Given the description of an element on the screen output the (x, y) to click on. 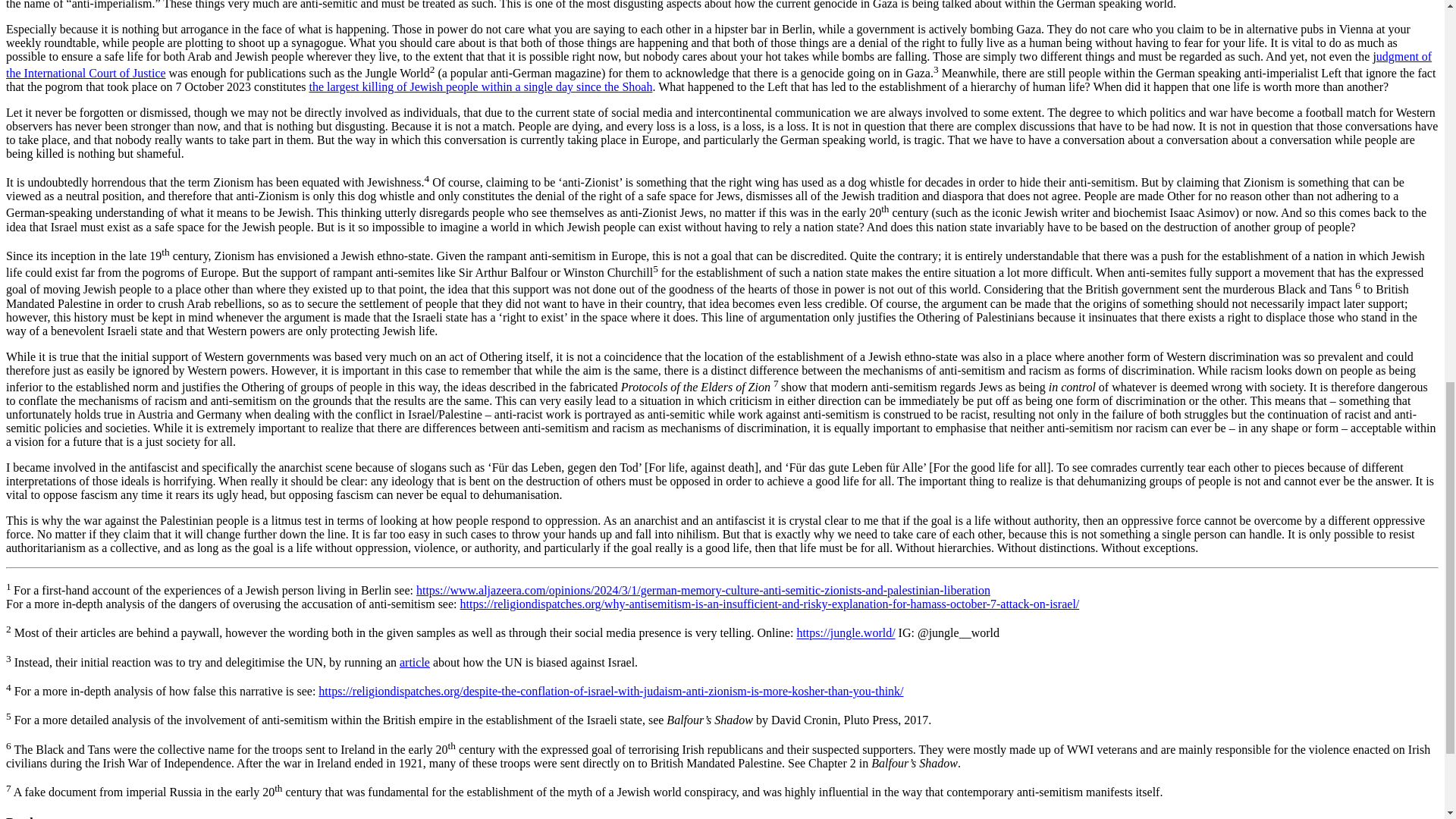
article (413, 662)
udgment of the International Court of Justice (718, 64)
